Given the description of an element on the screen output the (x, y) to click on. 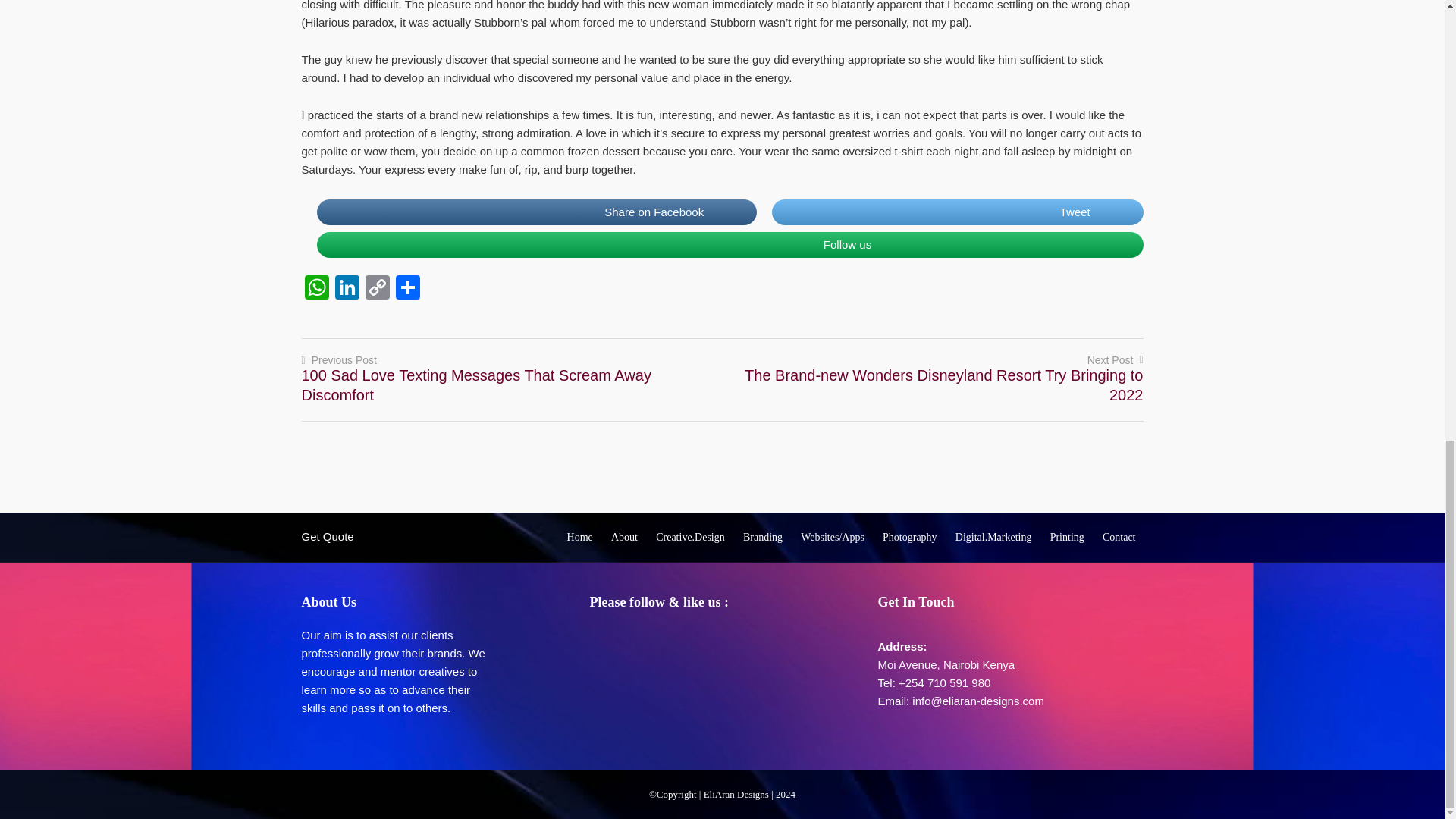
Instagram (728, 640)
Facebook (637, 640)
Copy Link (377, 289)
WhatsApp (316, 289)
LinkedIn (698, 640)
Follow by Email (606, 640)
Twitter (667, 640)
LinkedIn (346, 289)
